Given the description of an element on the screen output the (x, y) to click on. 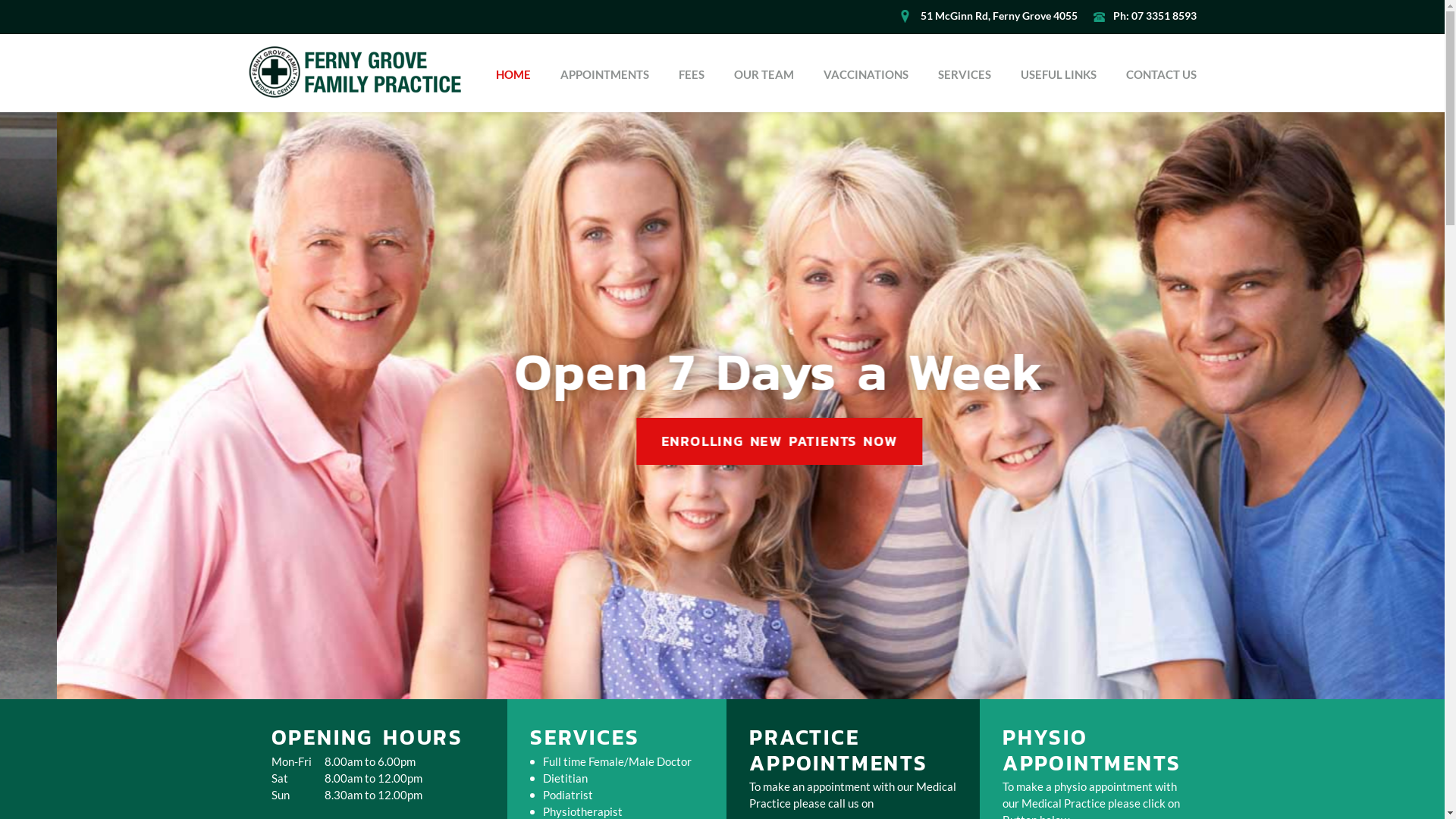
Ph: 07 3351 8593 Element type: text (1144, 16)
FEES Element type: text (690, 74)
ENROLLING NEW PATIENTS NOW Element type: text (350, 440)
HOME Element type: text (512, 74)
51 McGinn Rd, Ferny Grove 4055 Element type: text (988, 16)
CONTACT US Element type: text (1160, 74)
VACCINATIONS Element type: text (865, 74)
USEFUL LINKS Element type: text (1058, 74)
SERVICES Element type: text (963, 74)
APPOINTMENTS Element type: text (603, 74)
OUR TEAM Element type: text (763, 74)
